Given the description of an element on the screen output the (x, y) to click on. 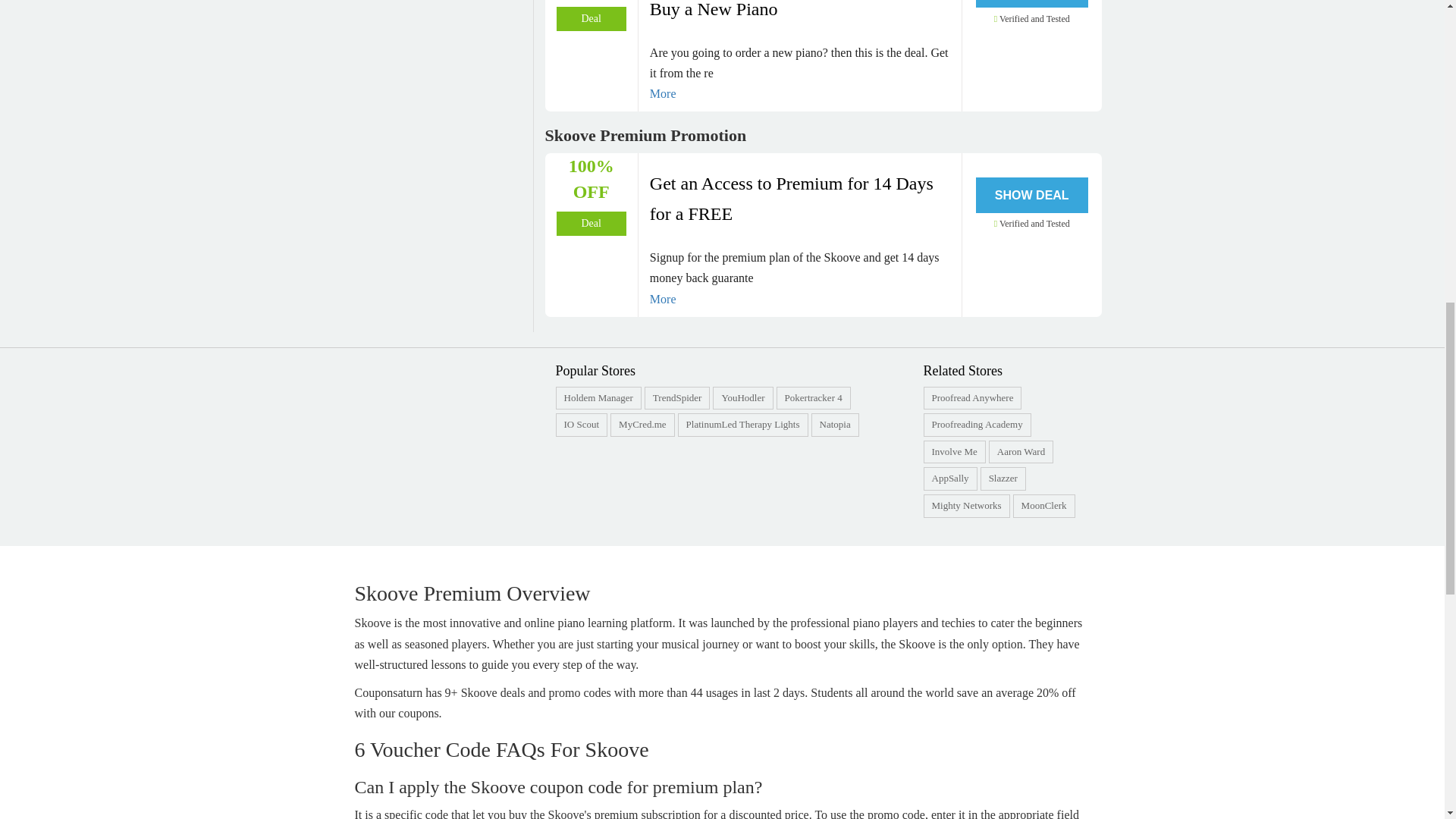
SHOW DEAL (1031, 3)
TrendSpider (676, 397)
Holdem Manager (598, 397)
Get an Access to Premium for 14 Days for a FREE (799, 199)
YouHodler (742, 397)
More (799, 93)
SHOW DEAL (1031, 194)
More (799, 298)
